Given the description of an element on the screen output the (x, y) to click on. 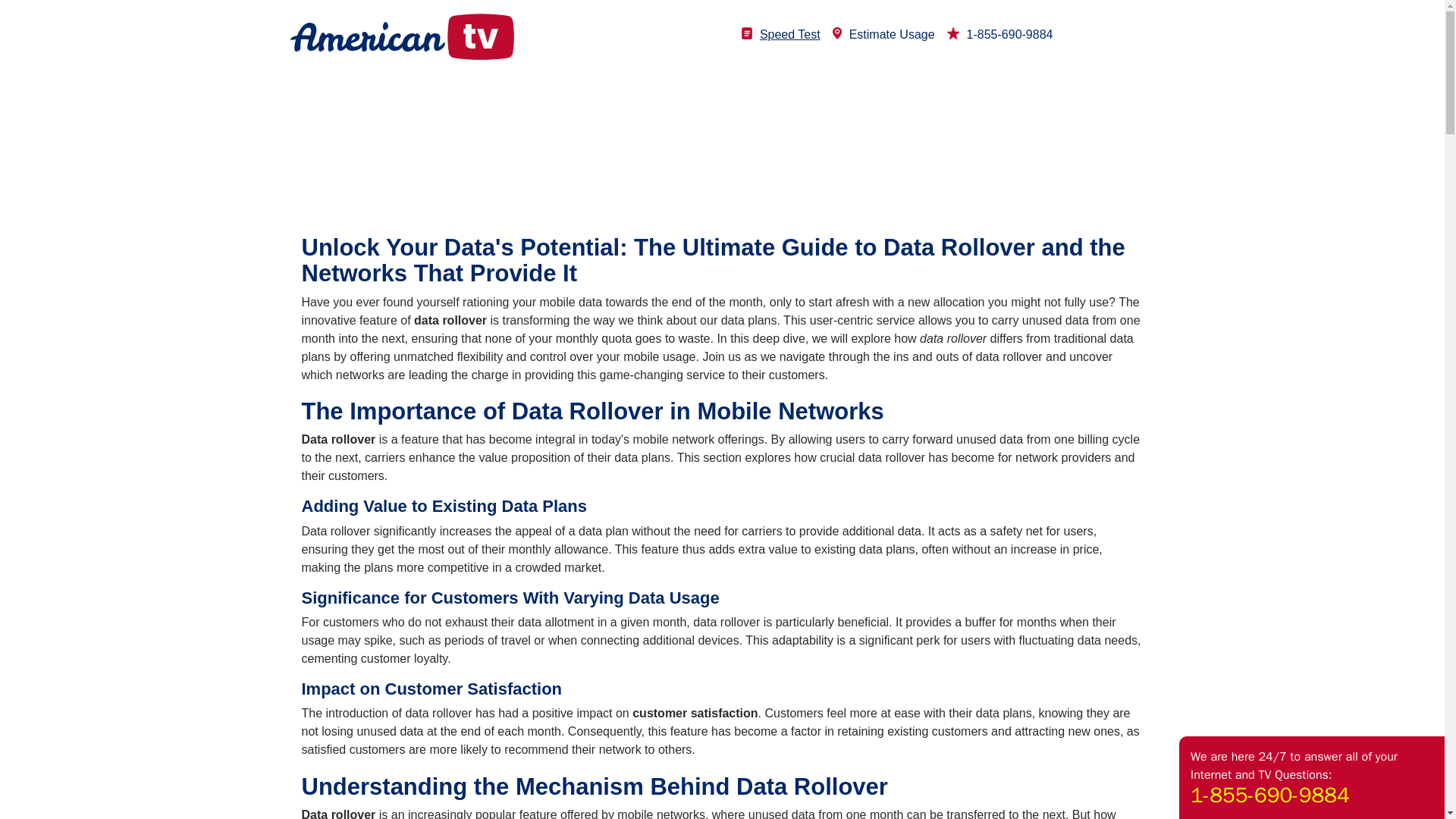
1-855-690-9884 (999, 34)
Speed Test (781, 34)
Estimate Usage (883, 34)
